Given the description of an element on the screen output the (x, y) to click on. 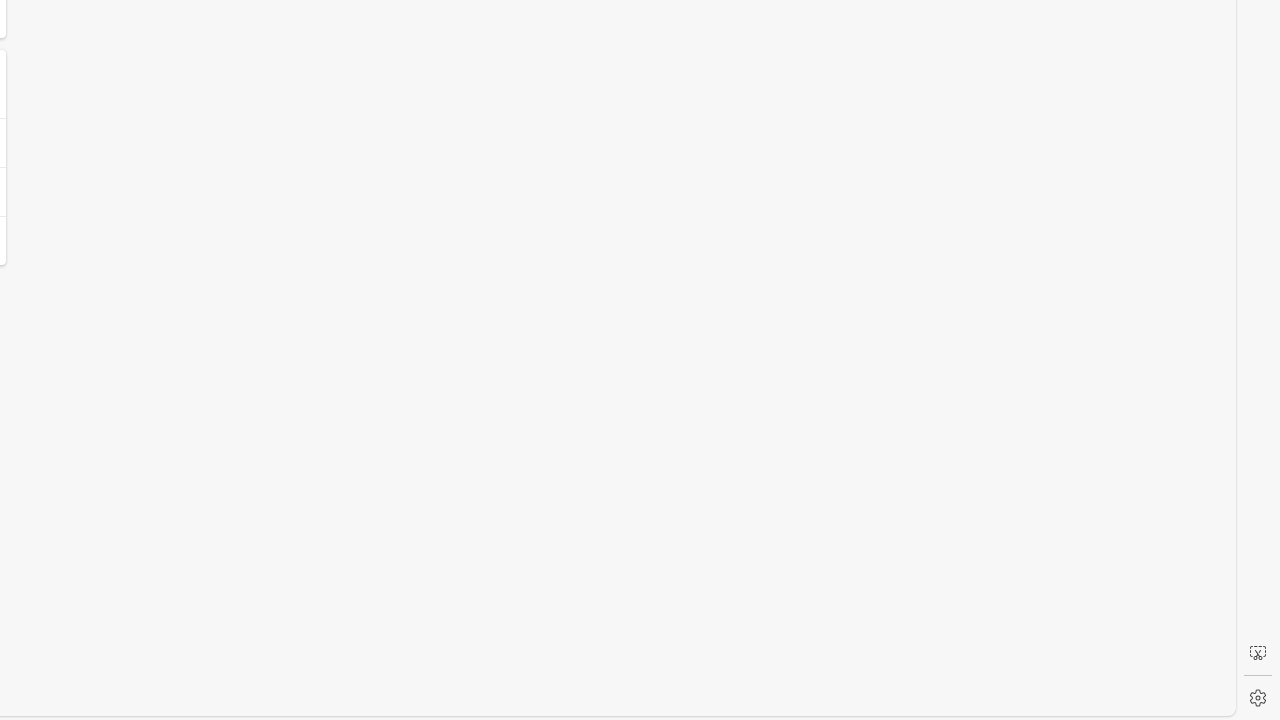
Screenshot Element type: push-button (1258, 653)
Settings Element type: push-button (1258, 698)
